Given the description of an element on the screen output the (x, y) to click on. 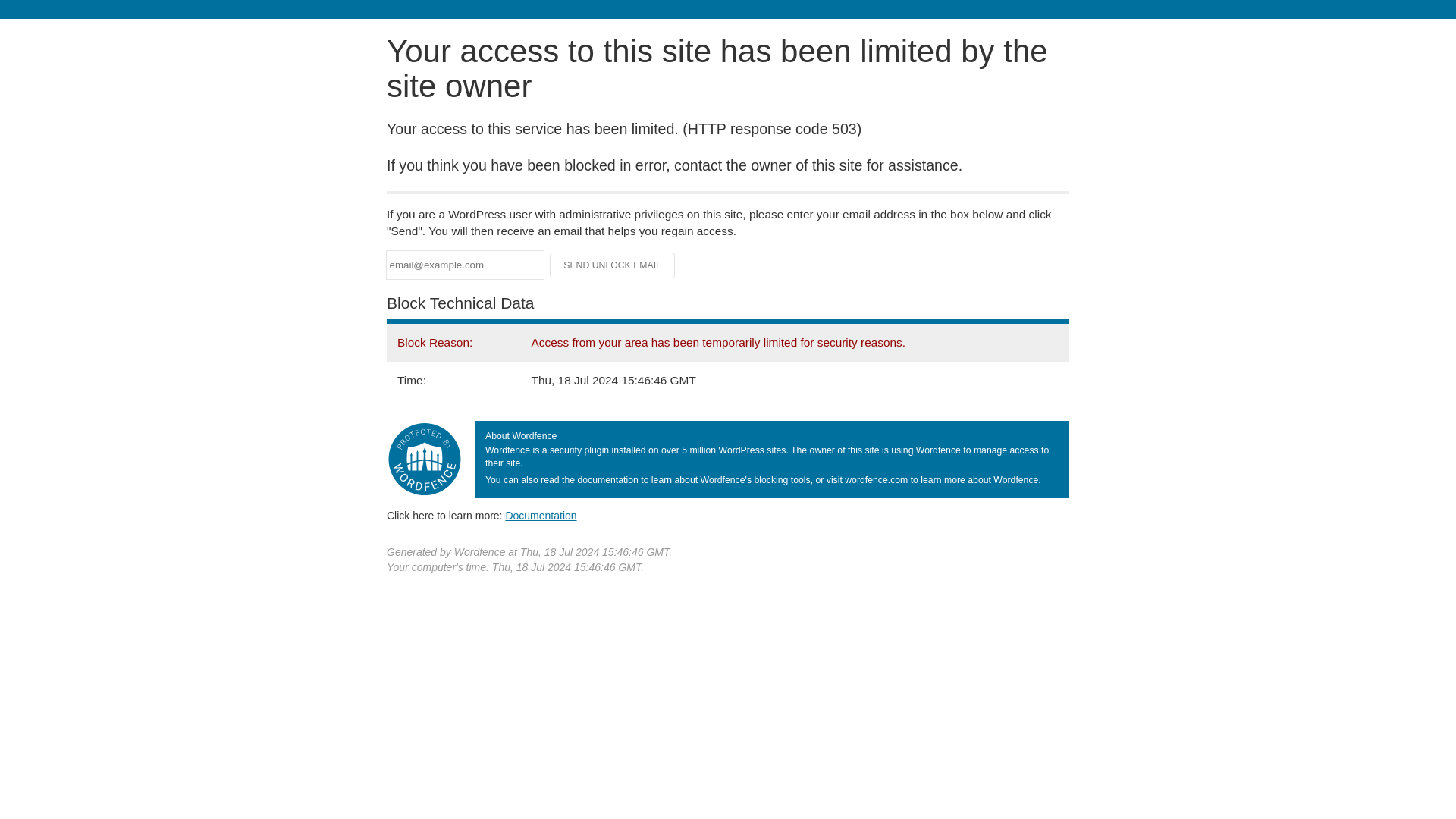
Send Unlock Email (612, 265)
Documentation (540, 515)
Send Unlock Email (612, 265)
